Given the description of an element on the screen output the (x, y) to click on. 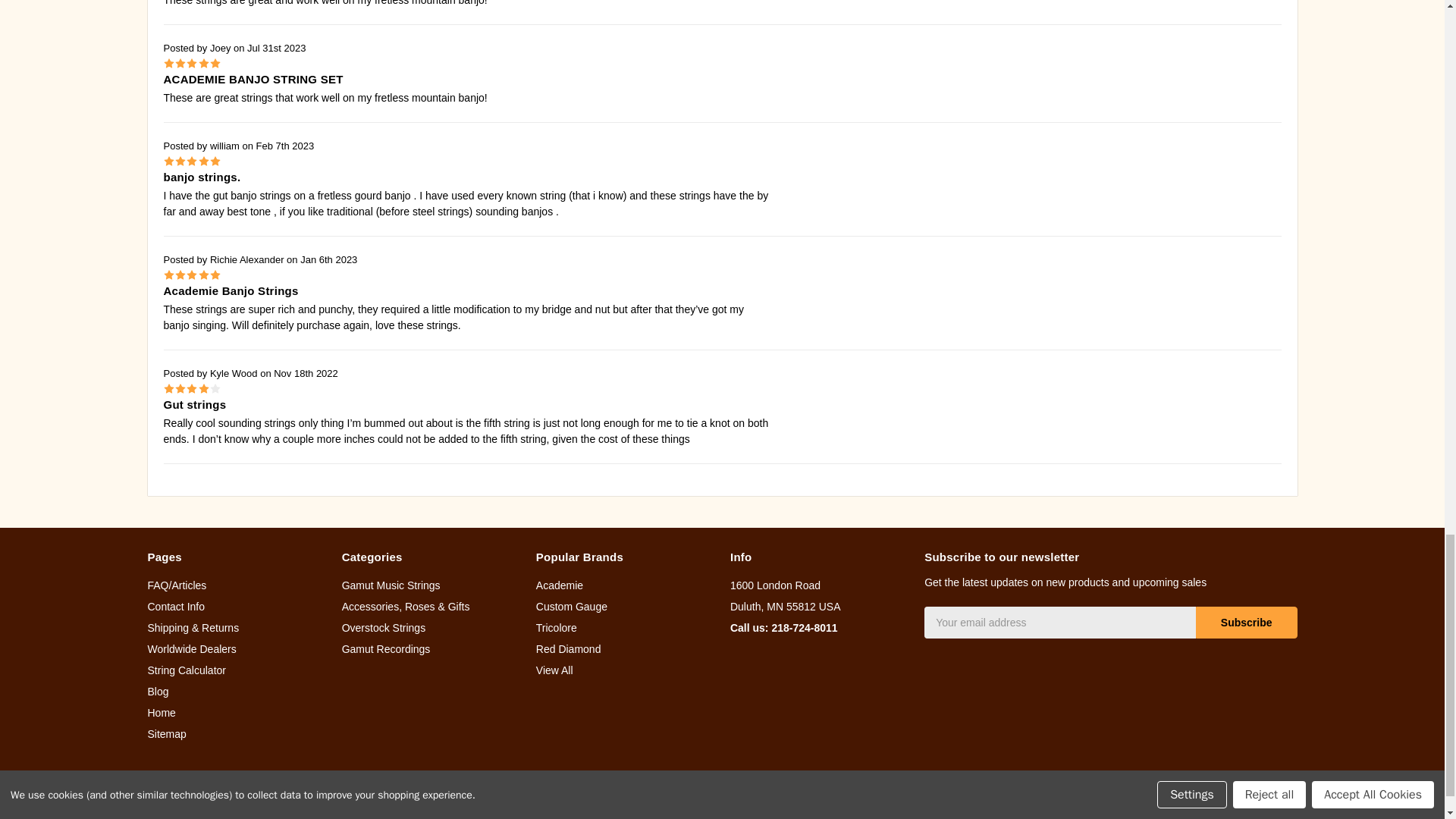
Subscribe (1246, 622)
